Given the description of an element on the screen output the (x, y) to click on. 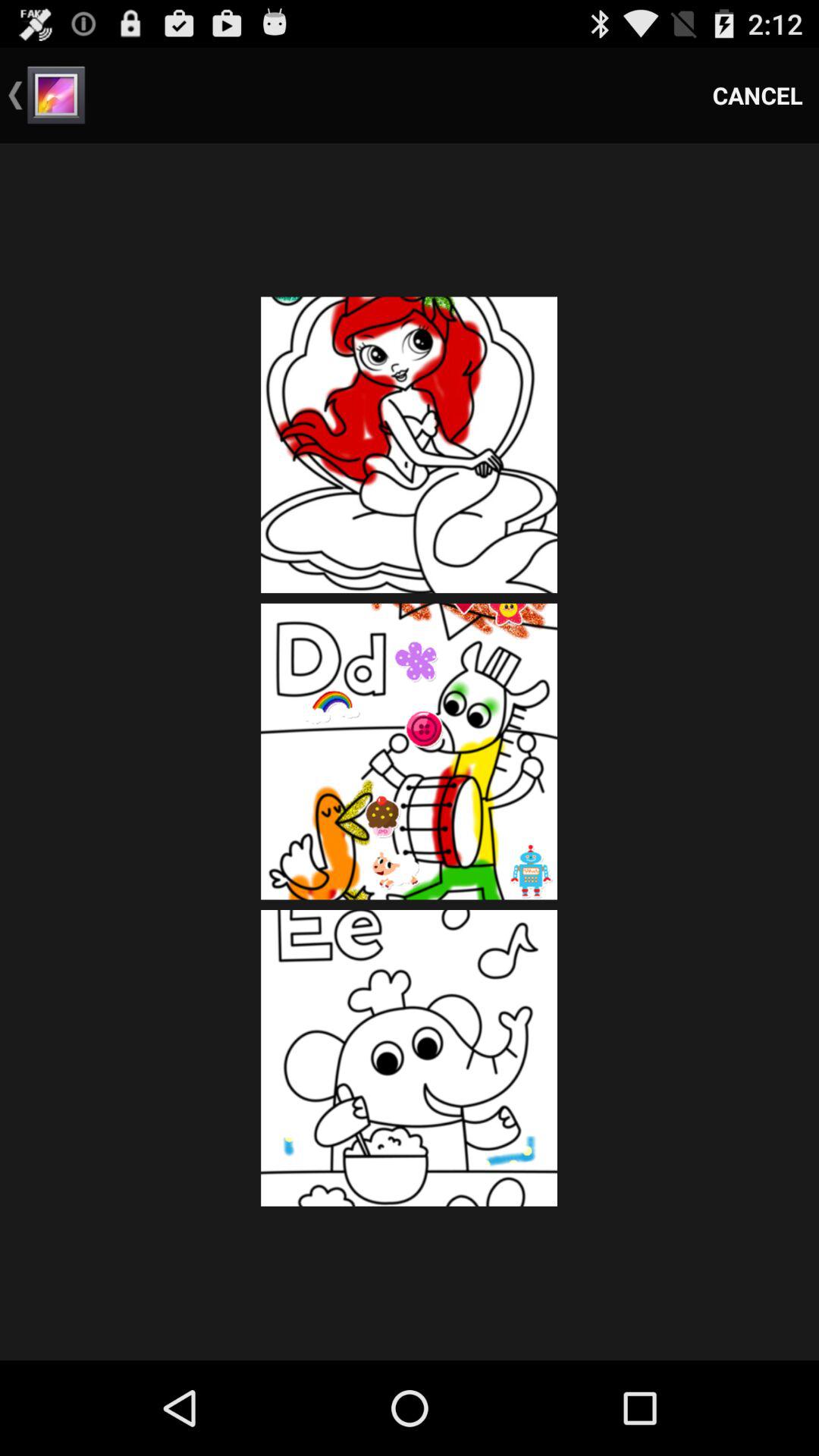
turn on cancel (757, 95)
